Given the description of an element on the screen output the (x, y) to click on. 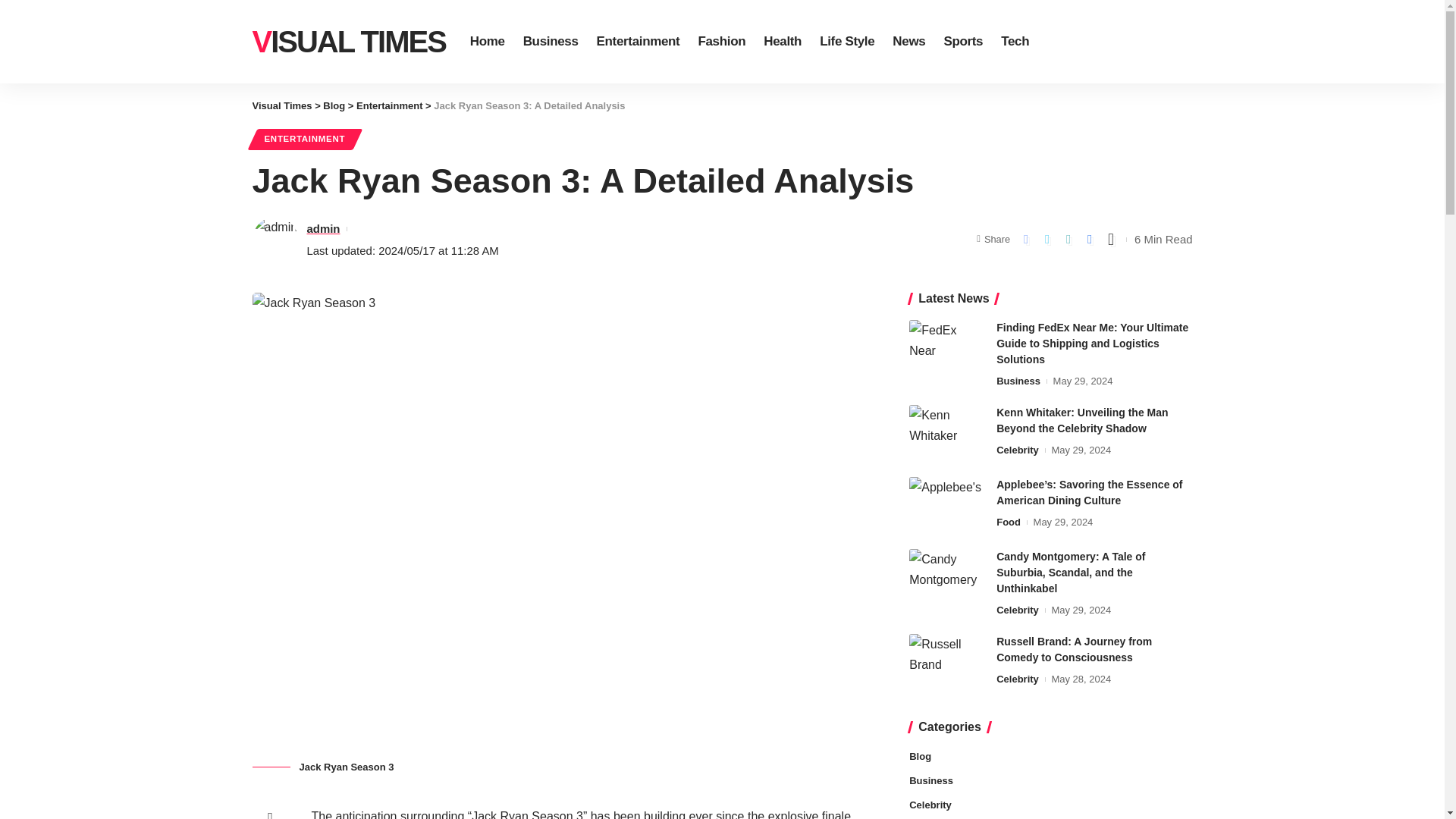
Go to the Entertainment Category archives. (389, 105)
Entertainment (638, 41)
Entertainment (389, 105)
admin (322, 228)
VISUAL TIMES (348, 41)
Visual Times (281, 105)
ENTERTAINMENT (303, 138)
Go to Visual Times. (281, 105)
Russell Brand: A Journey from Comedy to Consciousness (946, 662)
